Given the description of an element on the screen output the (x, y) to click on. 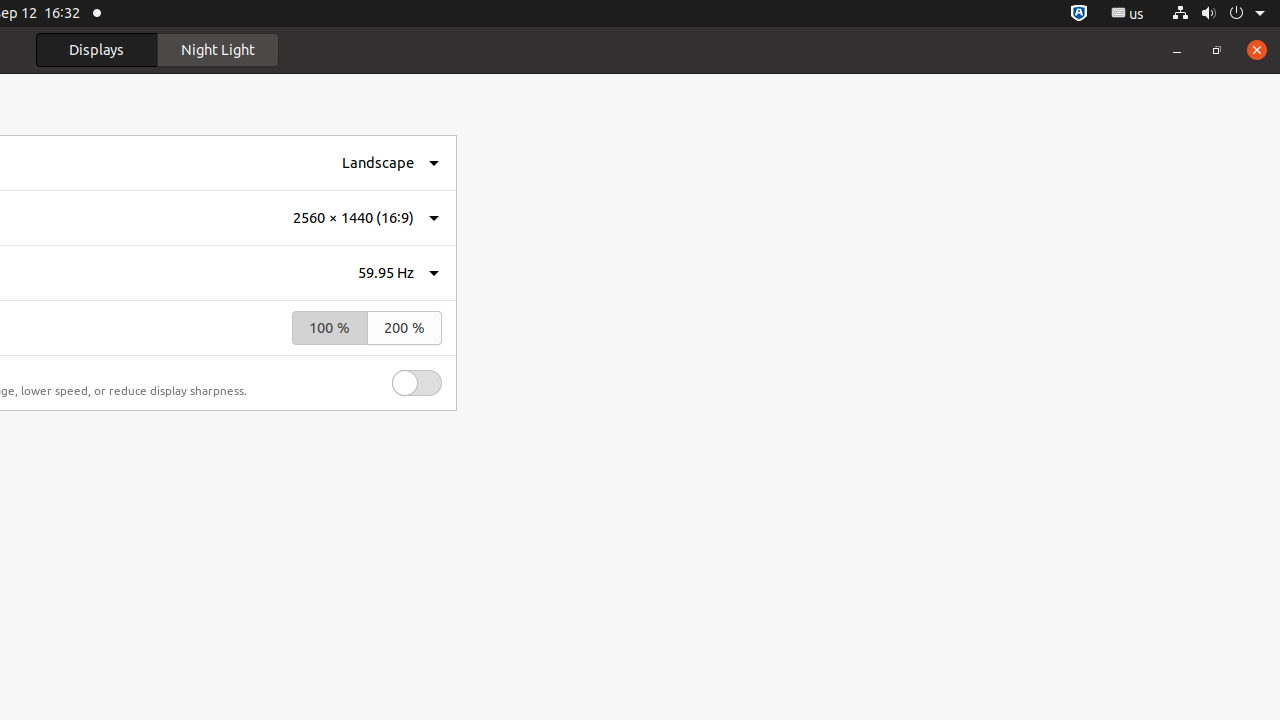
Night Light Element type: radio-button (218, 50)
2560 × 1440 (16∶9) Element type: label (353, 218)
Landscape Element type: label (378, 162)
